Given the description of an element on the screen output the (x, y) to click on. 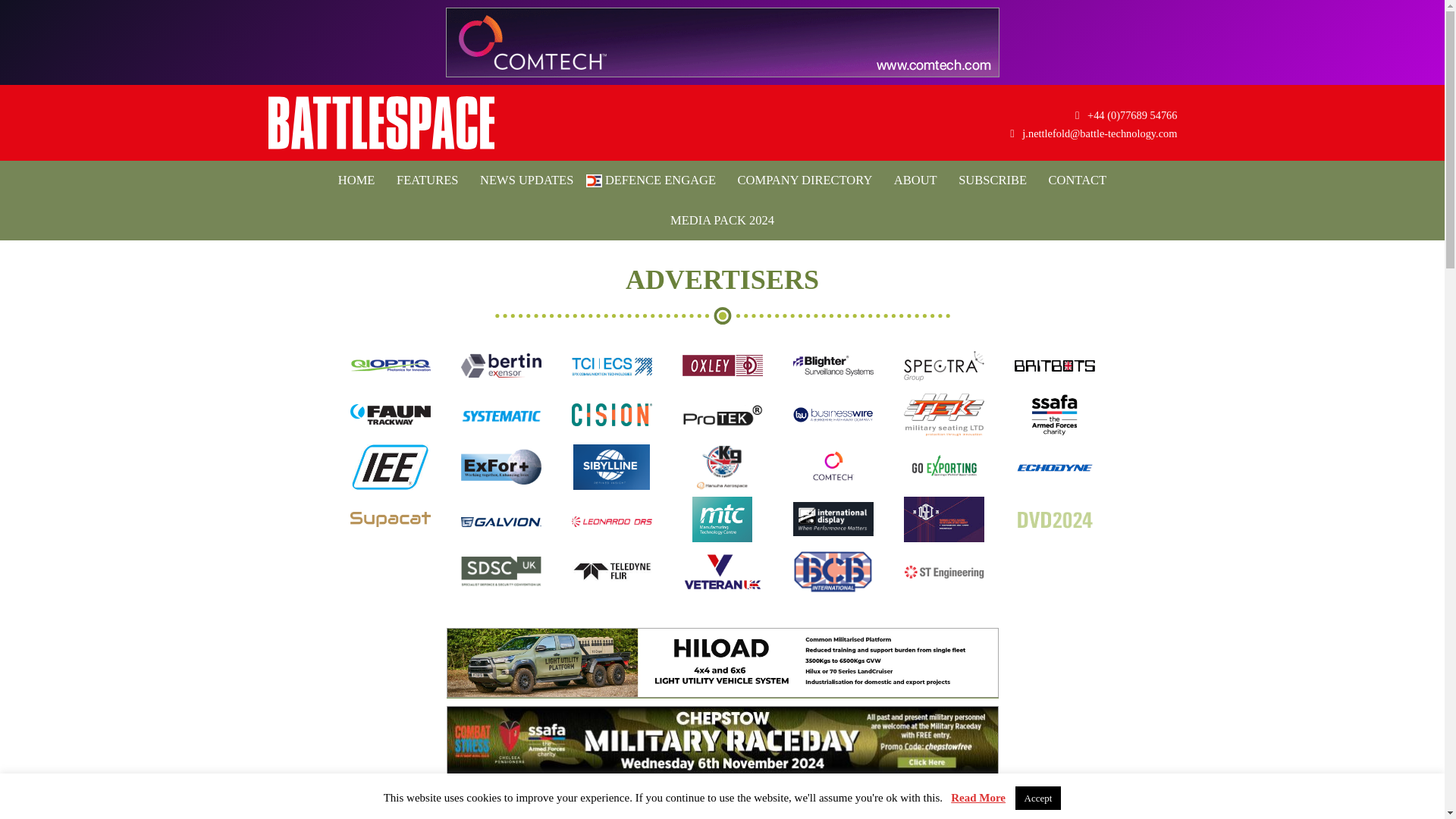
DEFENCE ENGAGE (655, 180)
COMPANY DIRECTORY (805, 180)
Opens PDF in new window. (722, 219)
ABOUT (915, 180)
qioptiq.com (390, 374)
BATTLESPACE Updates (380, 122)
FEATURES (427, 180)
SUBSCRIBE (992, 180)
HOME (356, 180)
CONTACT (1077, 180)
NEWS UPDATES (526, 180)
MEDIA PACK 2024 (722, 219)
